Given the description of an element on the screen output the (x, y) to click on. 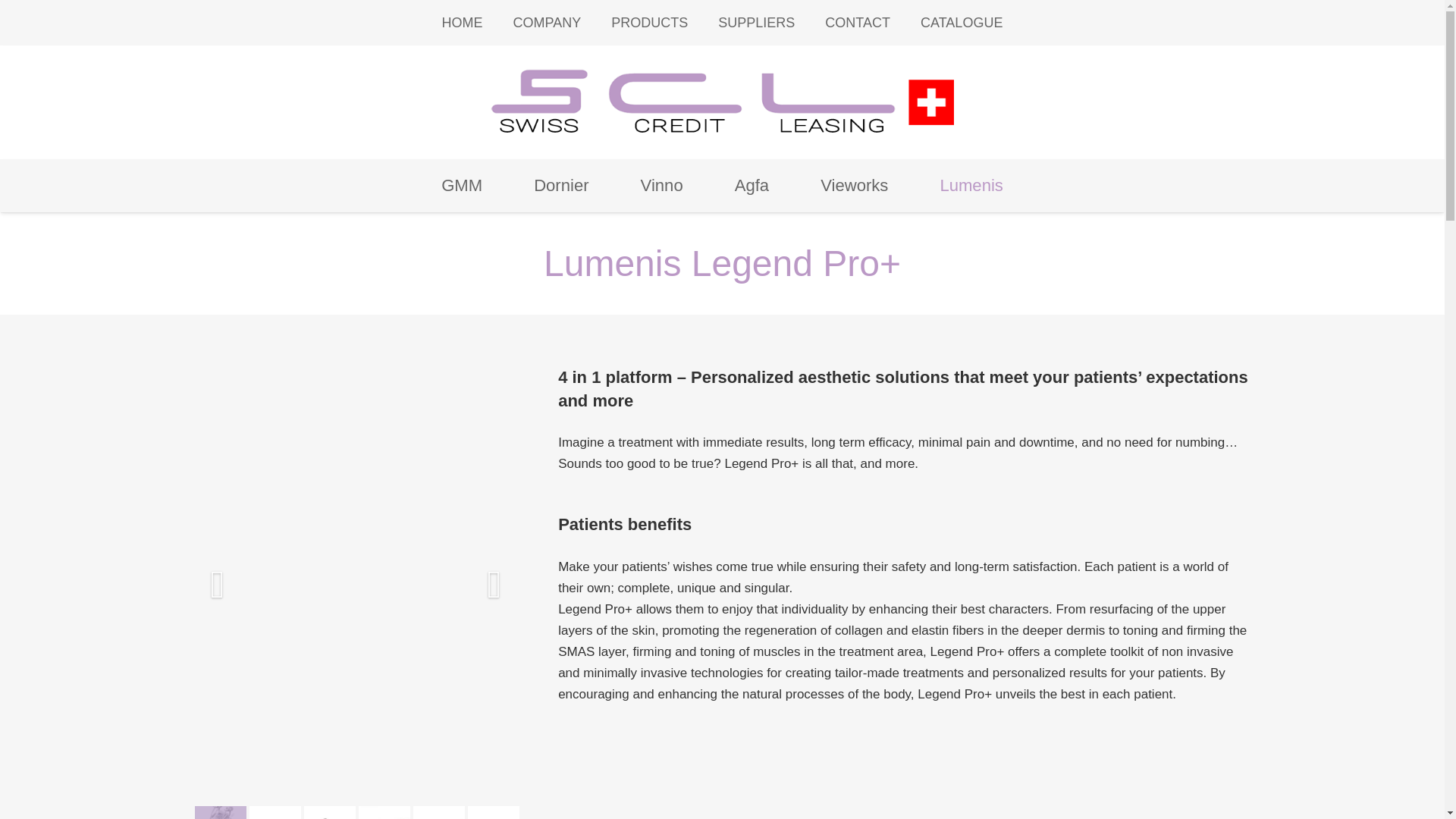
HOME (461, 22)
SUPPLIERS (756, 22)
CATALOGUE (961, 22)
PRODUCTS (649, 22)
COMPANY (546, 22)
CONTACT (857, 22)
GMM (461, 185)
